Given the description of an element on the screen output the (x, y) to click on. 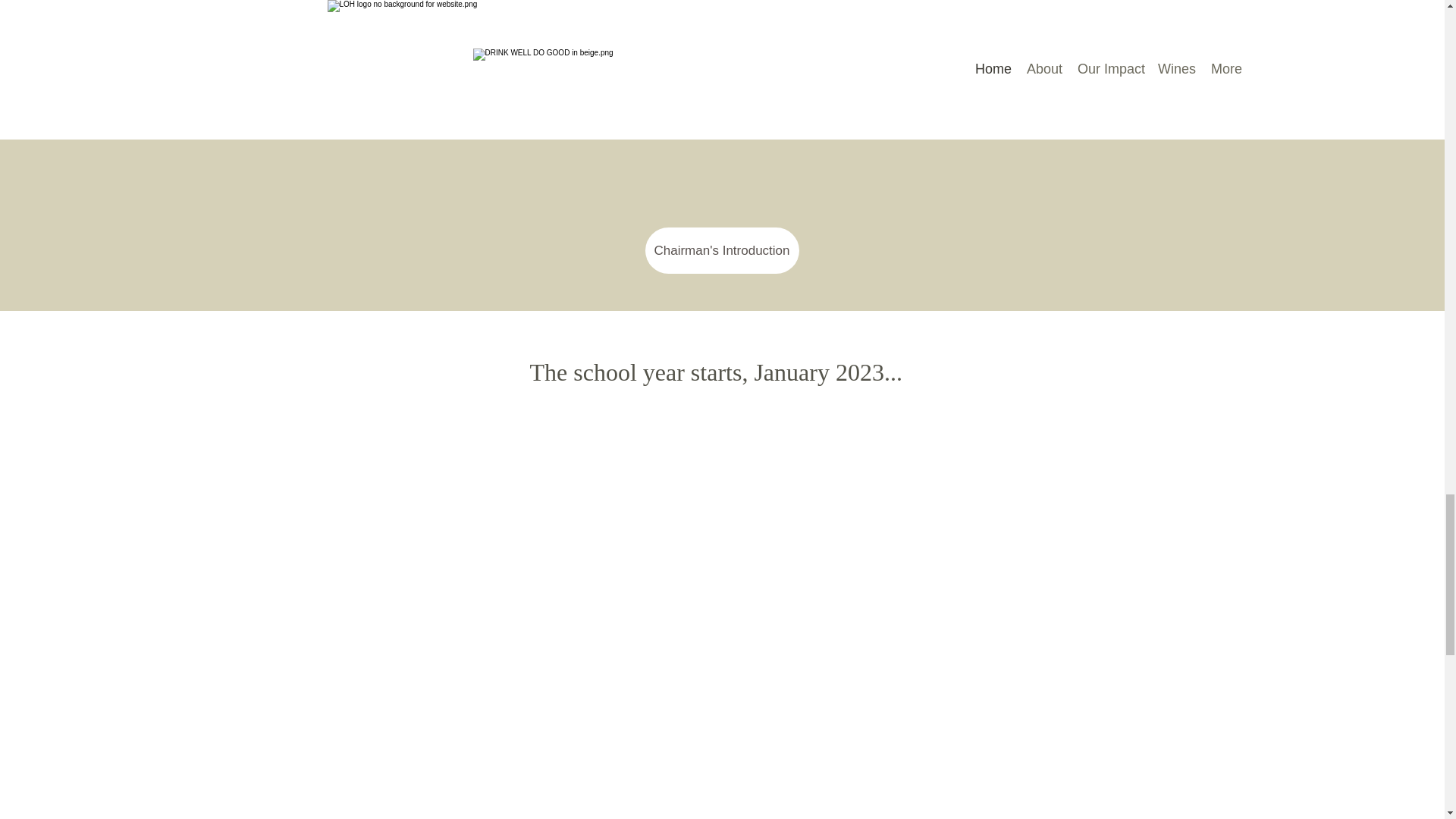
Chairman's Introduction (721, 250)
